Given the description of an element on the screen output the (x, y) to click on. 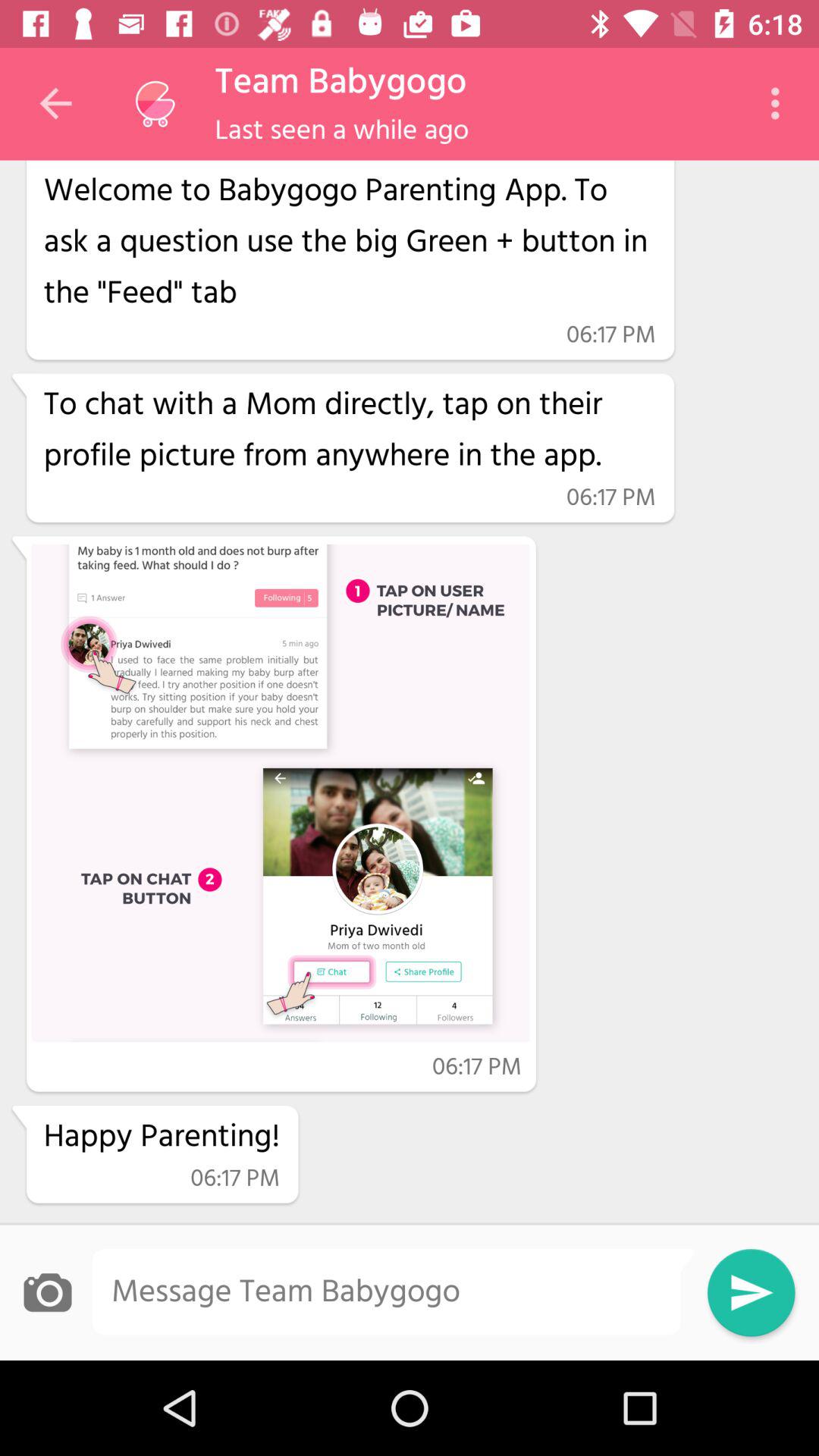
select the icon next to the hi app crawler item (779, 103)
